Given the description of an element on the screen output the (x, y) to click on. 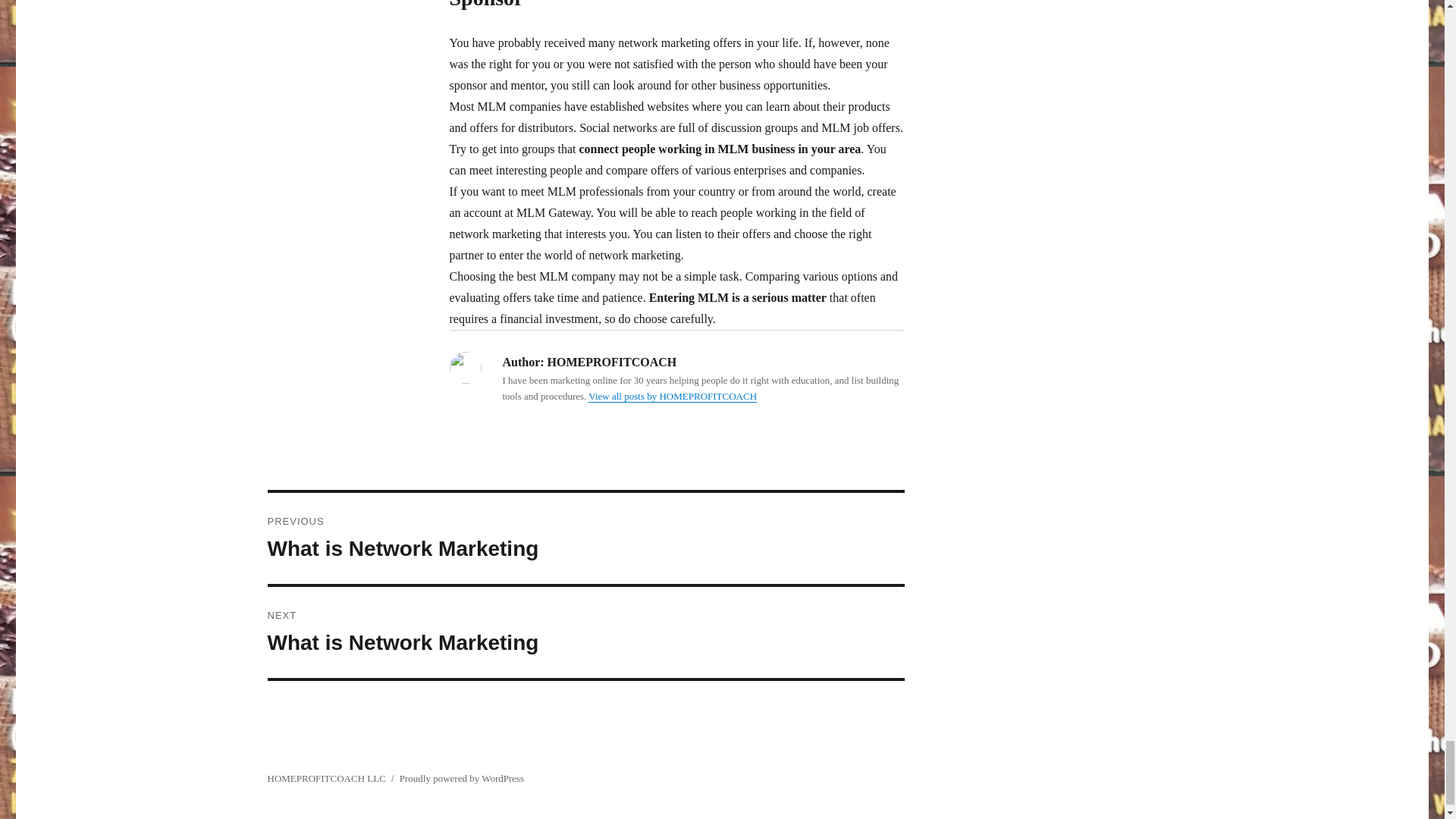
View all posts by HOMEPROFITCOACH (585, 632)
